Given the description of an element on the screen output the (x, y) to click on. 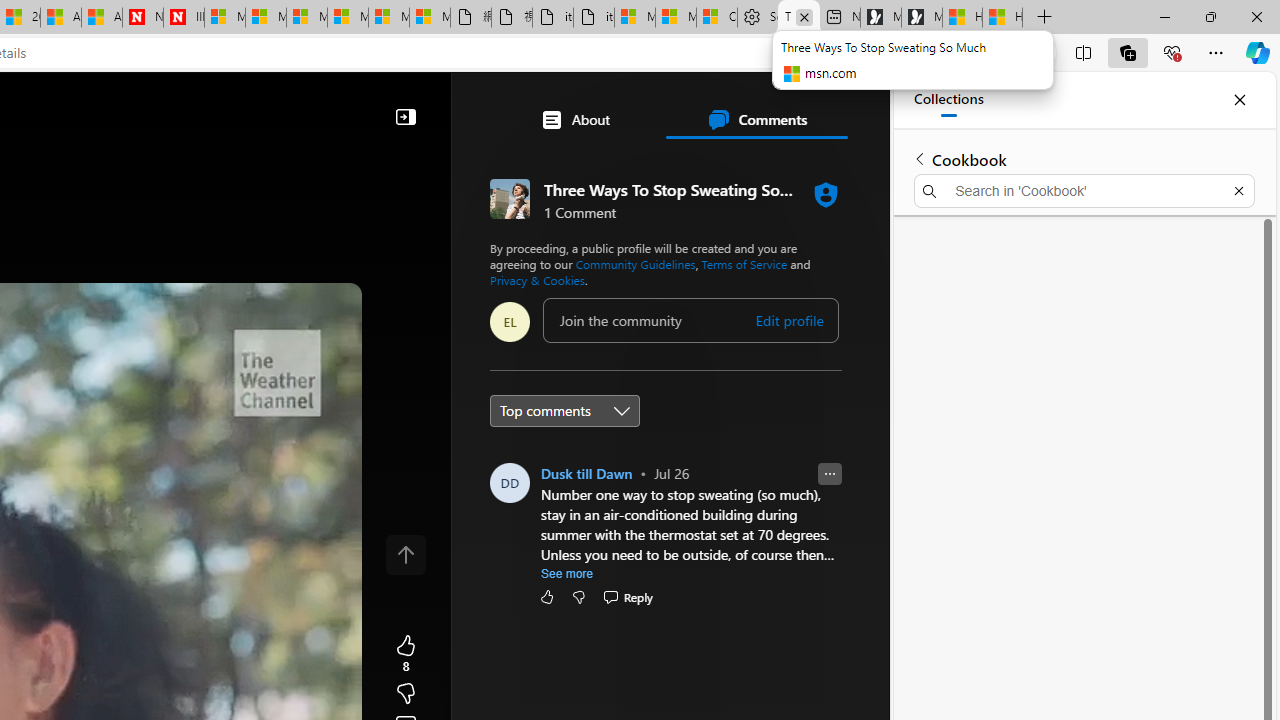
Dusk till Dawn (587, 473)
Search in 'Cookbook' (1084, 190)
Class: control icon-only (406, 554)
Illness news & latest pictures from Newsweek.com (183, 17)
The Wall Street Journal (584, 645)
Collapse (406, 115)
Edit profile (789, 321)
